Given the description of an element on the screen output the (x, y) to click on. 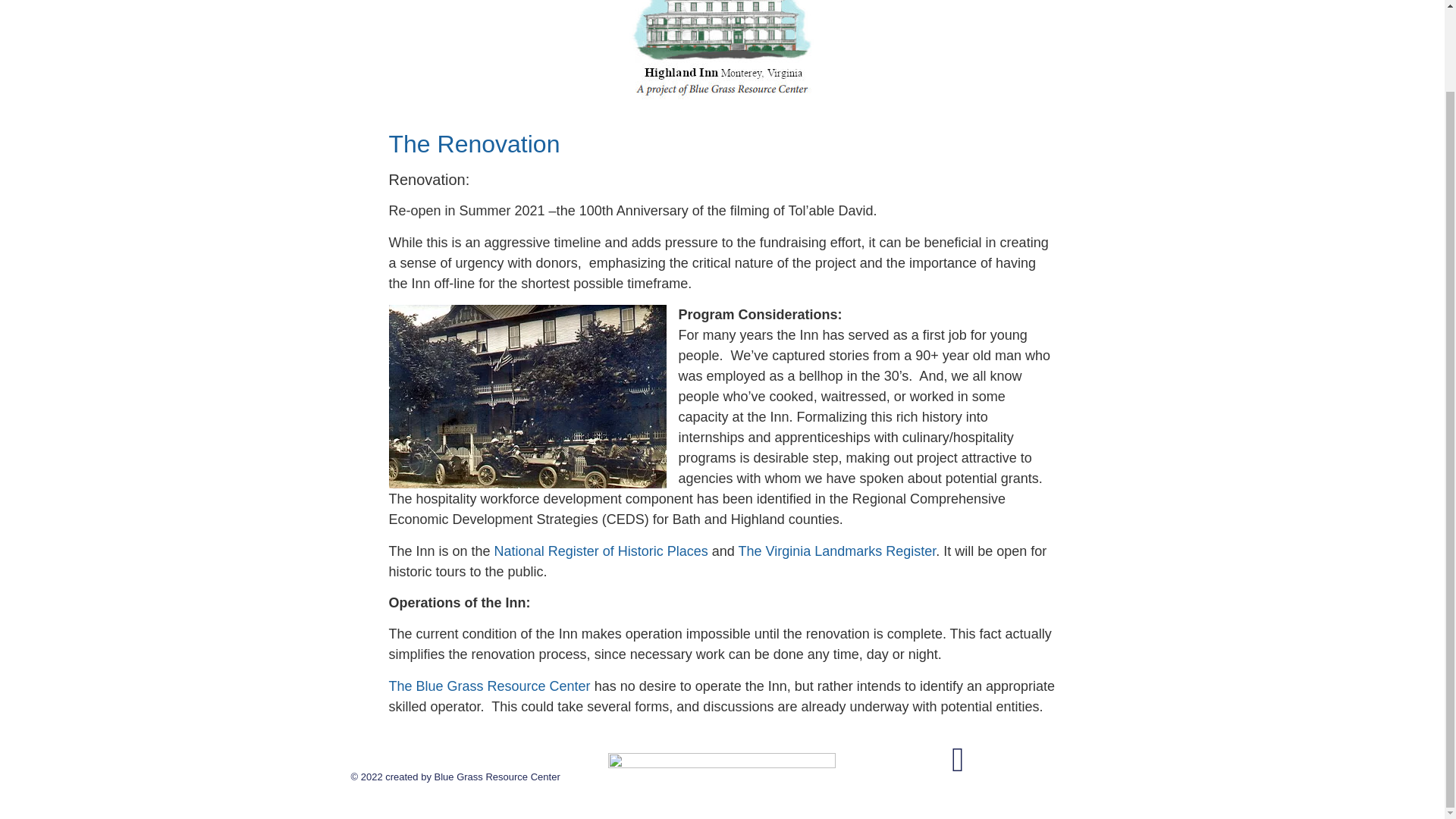
The Blue Grass Resource Center (488, 685)
National Register of Historic Places (601, 550)
The Virginia Landmarks Register (837, 550)
